Given the description of an element on the screen output the (x, y) to click on. 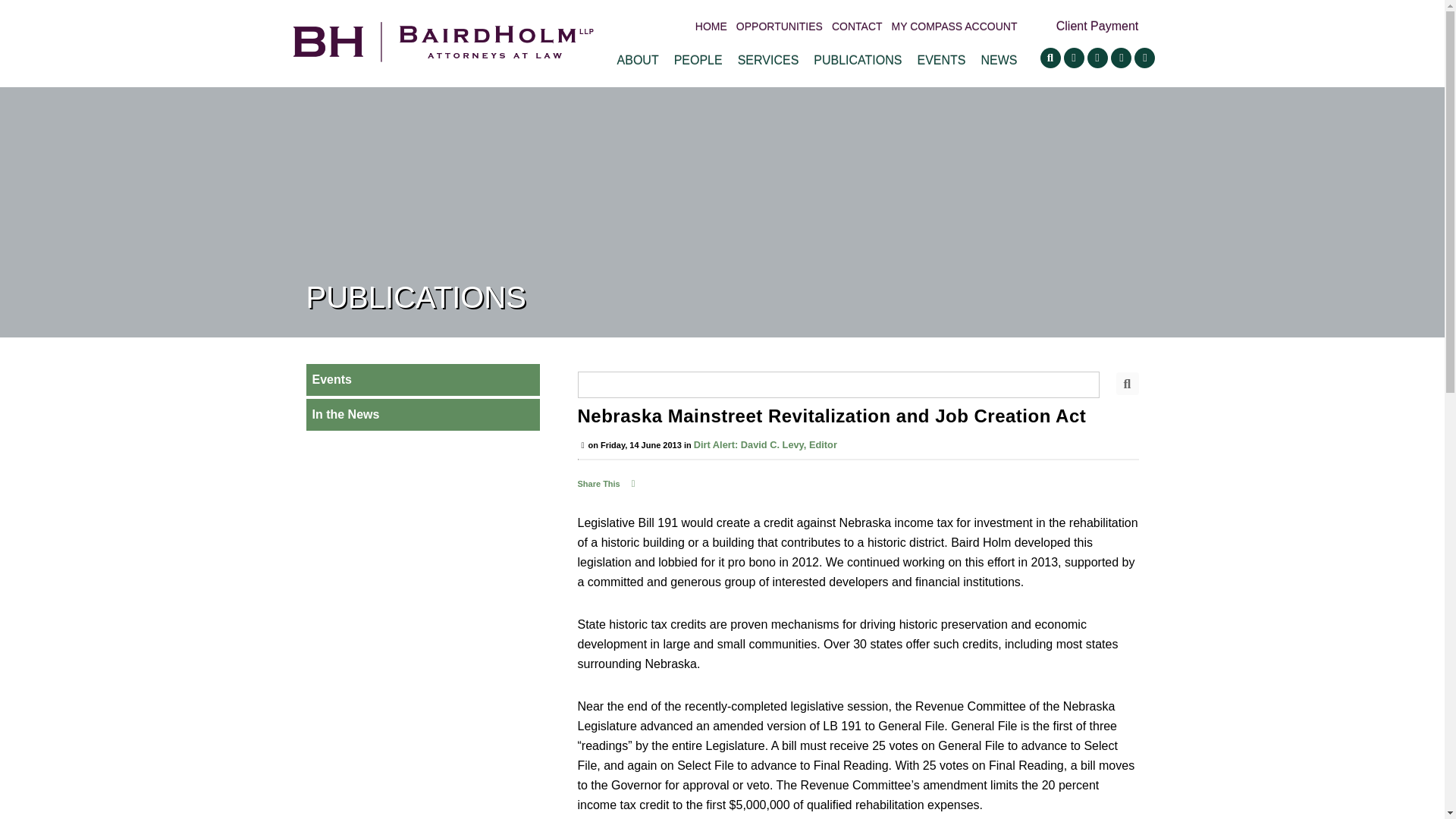
Events (422, 379)
EVENTS (941, 60)
OPPORTUNITIES (779, 26)
In the News (422, 414)
MY COMPASS ACCOUNT (954, 26)
Client Payment (1097, 23)
PEOPLE (698, 60)
PUBLICATIONS (857, 60)
HOME (710, 26)
CONTACT (856, 26)
